Given the description of an element on the screen output the (x, y) to click on. 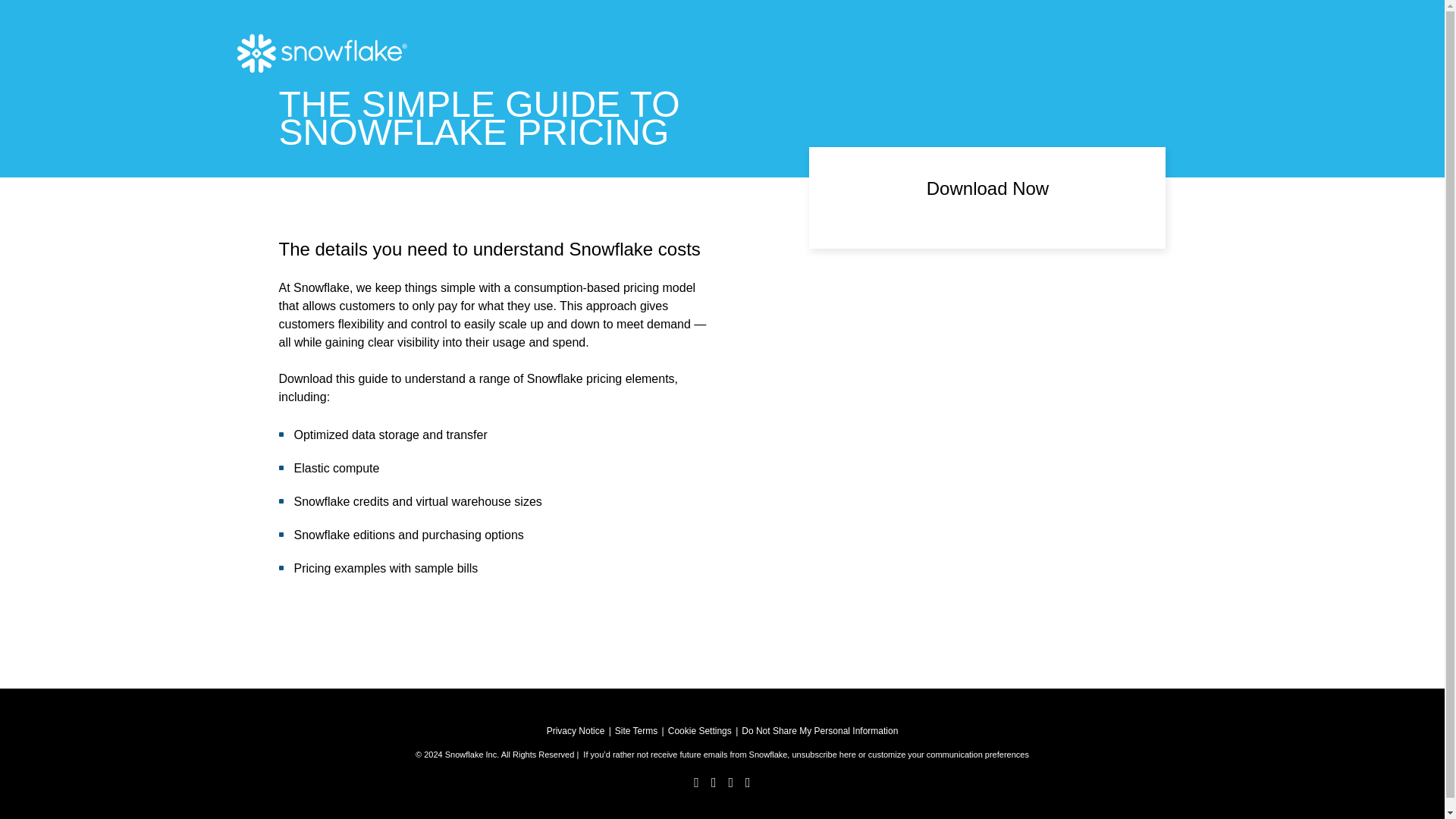
Site Terms (636, 730)
Do Not Share My Personal Information (819, 730)
Privacy Notice (576, 730)
unsubscribe here or customize your communication preferences (909, 754)
Cookie Settings (700, 730)
